Given the description of an element on the screen output the (x, y) to click on. 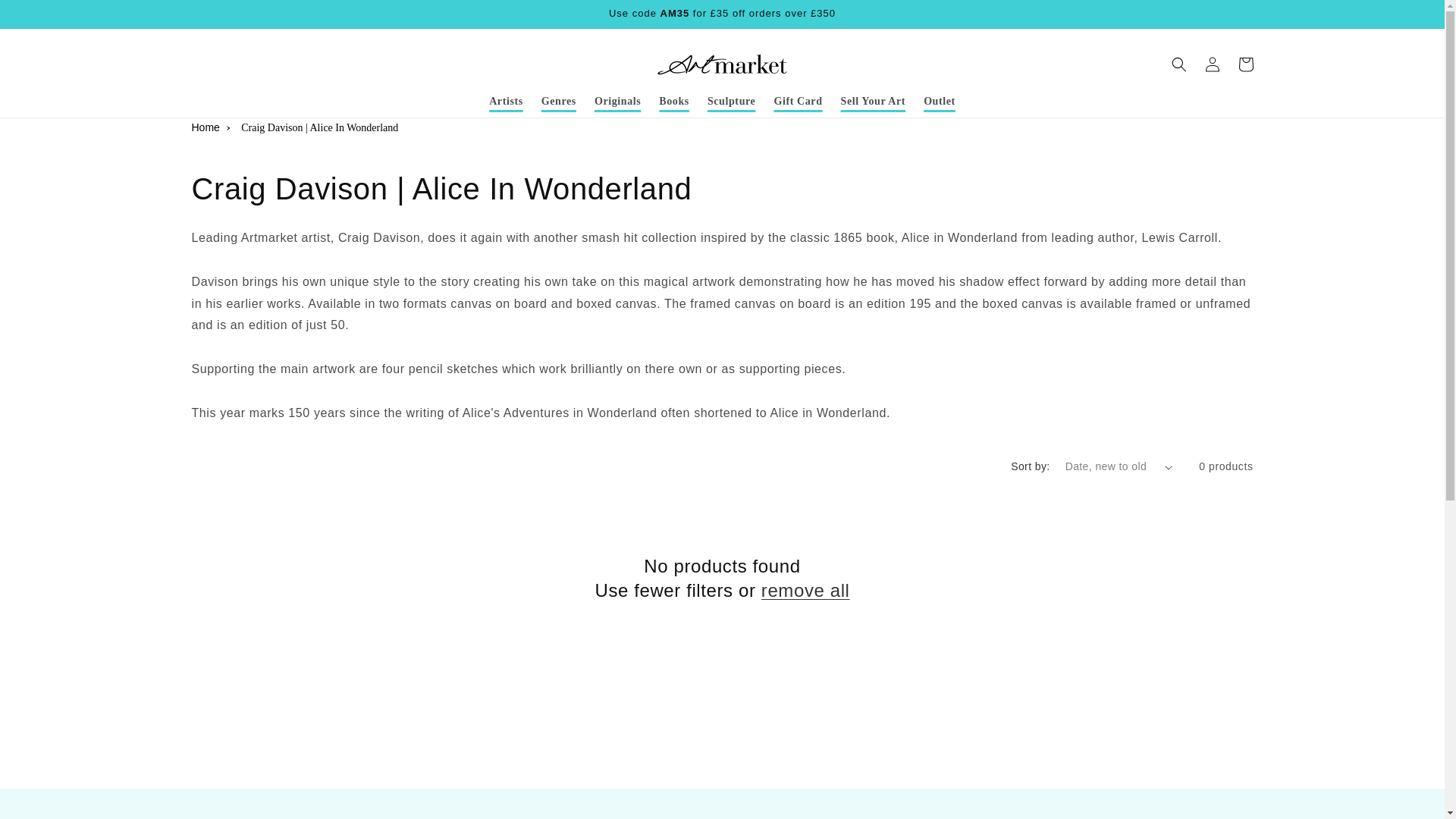
Cart (1245, 64)
Gift Card (797, 101)
Log in (1211, 64)
Originals (617, 101)
Home (204, 127)
Books (673, 101)
Artists (506, 101)
Outlet (938, 101)
Genres (558, 101)
Sell Your Art (873, 101)
